Given the description of an element on the screen output the (x, y) to click on. 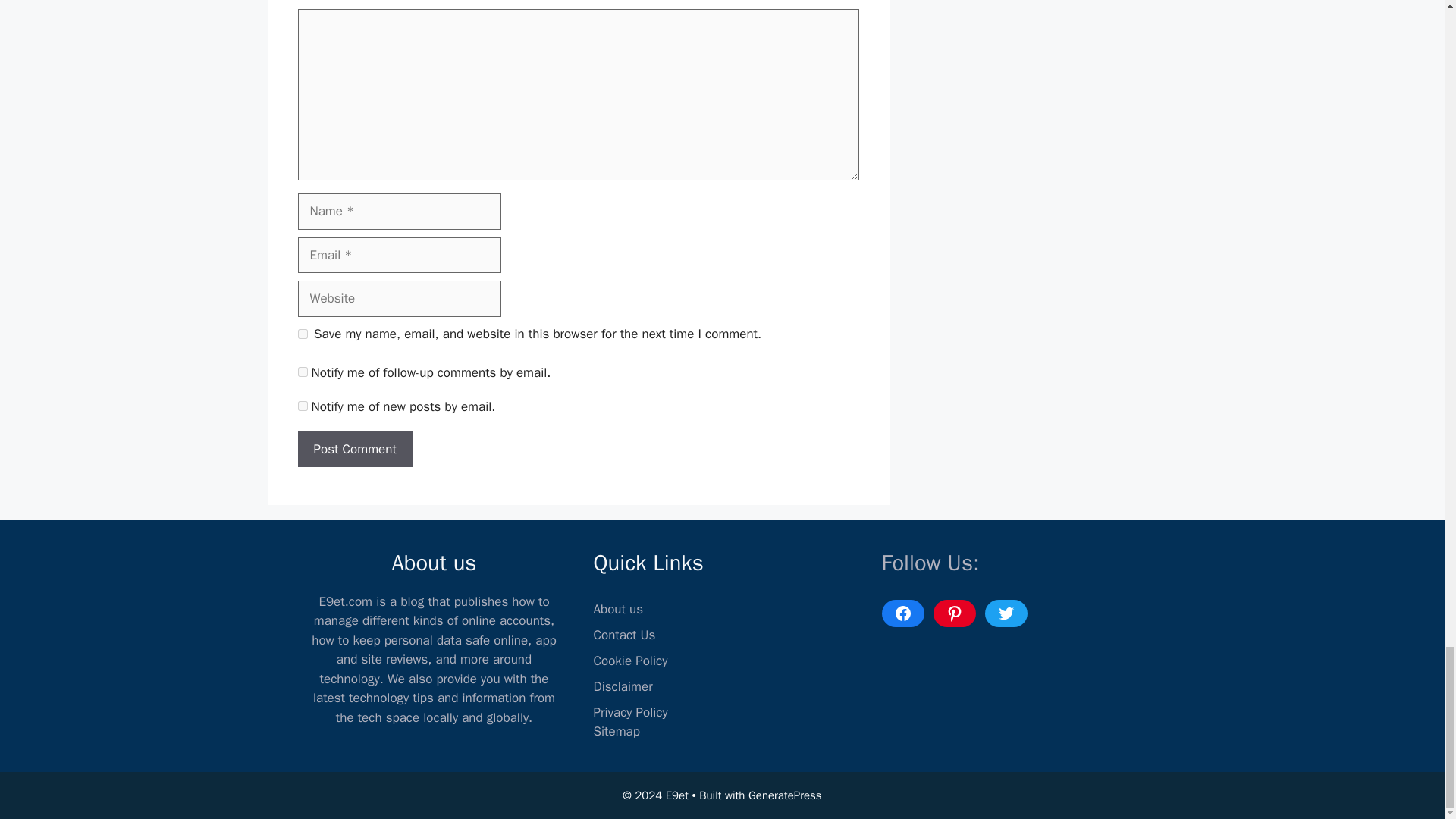
Peel Vista Page Site For Users (553, 721)
Peel Vista Page Site For Users (553, 721)
Blackboard Humber Site Page For Users (746, 729)
Webmail Telkom Site Page For Users (367, 729)
Blackboard Humber Site Page For Users (746, 729)
Webmail Telkom Site Page For Users (367, 729)
